Given the description of an element on the screen output the (x, y) to click on. 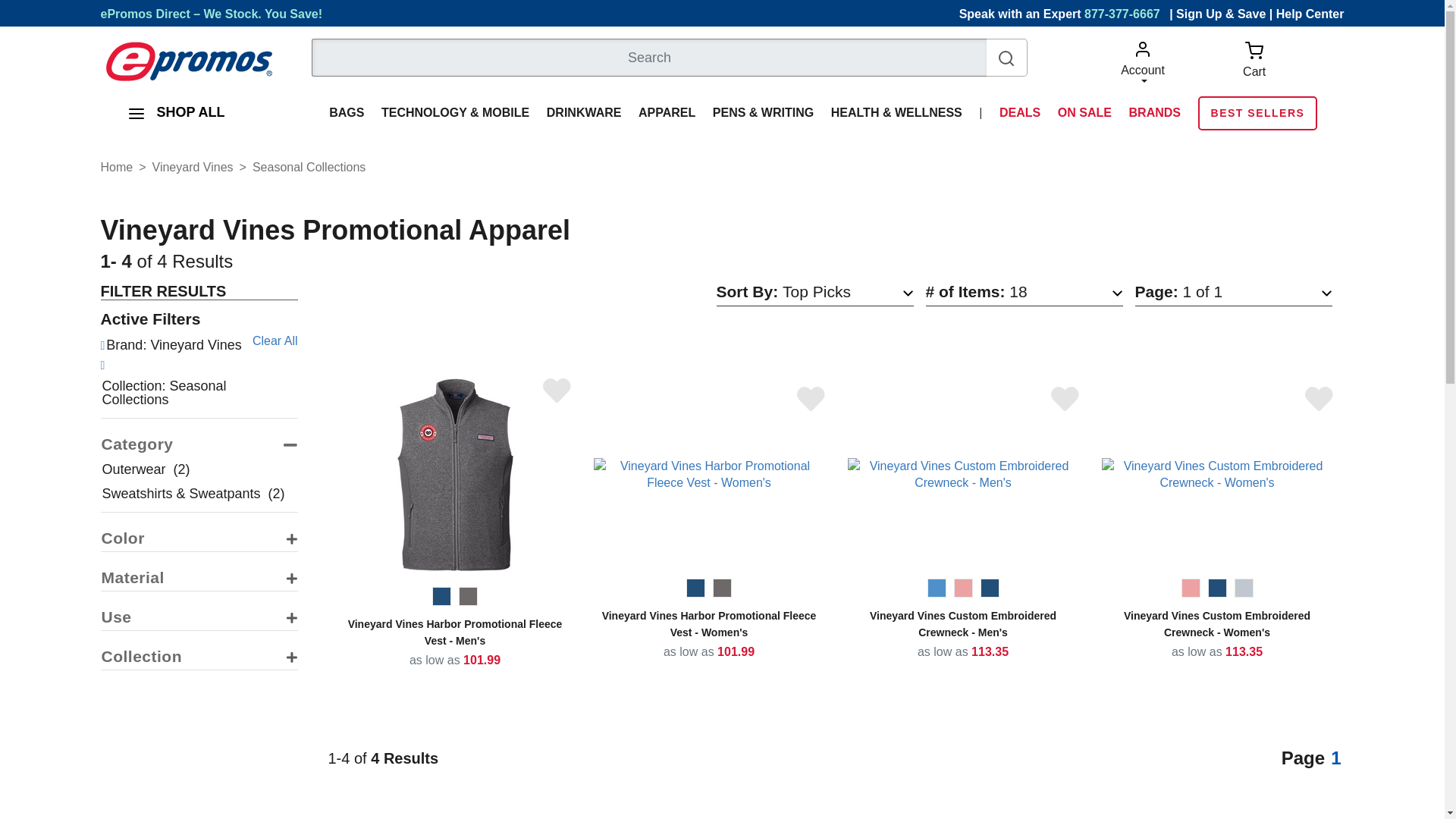
ePromos Direct (210, 13)
Vineyard Navy (441, 596)
Charcoal Heather (722, 587)
Click to remove all filters from your search results. (274, 340)
Charcoal Heather (467, 596)
Vineyard Navy (988, 587)
Vineyard Navy (694, 587)
Vineyard Navy (1216, 587)
Grey Heather (1243, 587)
Vineyard Vines (192, 167)
Click to remove Vineyard Vines from your search results. (175, 344)
Jetty Red (1189, 587)
Help Center (1309, 13)
877-377-6667 (1125, 13)
Jetty Red (962, 587)
